Given the description of an element on the screen output the (x, y) to click on. 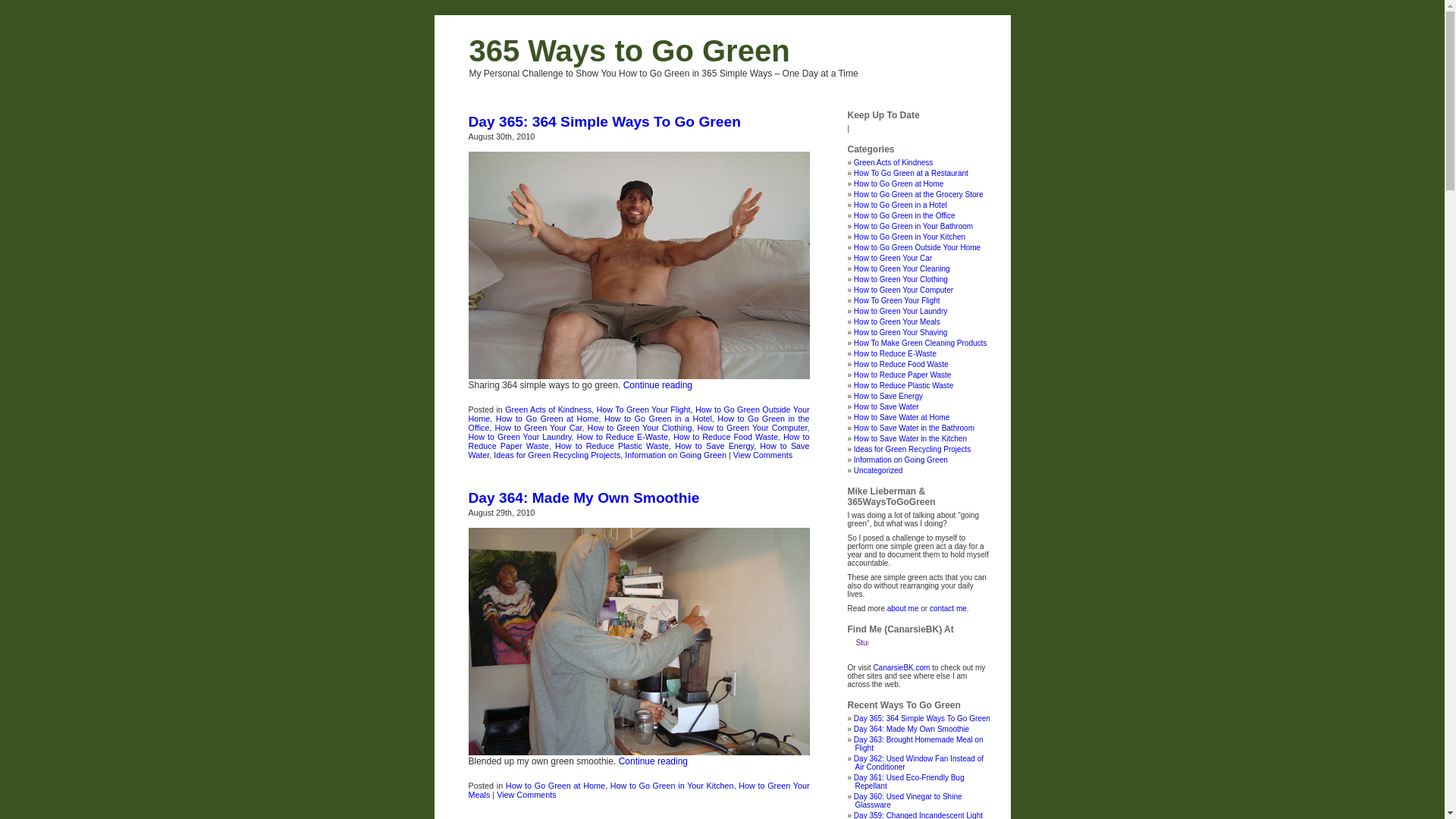
View Comments Element type: text (762, 454)
Day 360: Used Vinegar to Shine Glassware Element type: text (907, 800)
Day 362: Used Window Fan Instead of Air Conditioner Element type: text (918, 762)
How To Green Your Flight Element type: text (896, 300)
How to Green Your Clothing Element type: text (900, 279)
How to Go Green Outside Your Home Element type: text (916, 247)
Green Acts of Kindness Element type: text (548, 409)
Continue reading Element type: text (652, 761)
Day 365: 364 Simple Ways To Go Green Element type: text (921, 718)
How to Reduce Food Waste Element type: text (725, 436)
View Comments Element type: text (525, 794)
How to Save Energy Element type: text (887, 396)
How to Reduce Plastic Waste Element type: text (611, 445)
How to Save Water Element type: text (638, 450)
Day 365: 364 Simple Ways To Go Green Element type: text (604, 121)
How to Green Your Computer Element type: text (751, 427)
How To Make Green Cleaning Products Element type: text (919, 342)
How to Reduce E-Waste Element type: text (894, 353)
How to Green Your Meals Element type: text (896, 321)
How to Go Green Outside Your Home Element type: text (638, 413)
How to Green Your Cleaning Element type: text (901, 268)
Information on Going Green Element type: text (675, 454)
Ideas for Green Recycling Projects Element type: text (556, 454)
Continue reading Element type: text (657, 384)
about me Element type: text (903, 608)
StumbleUpon Element type: hover (862, 647)
How to Green Your Clothing Element type: text (639, 427)
How to Green Your Meals Element type: text (638, 790)
How to Green Your Laundry Element type: text (900, 311)
How to Go Green in Your Kitchen Element type: text (672, 785)
How to Green Your Computer Element type: text (903, 289)
Ideas for Green Recycling Projects Element type: text (912, 449)
Green Acts of Kindness Element type: text (893, 162)
Day 363: Brought Homemade Meal on Flight Element type: text (918, 743)
How to Reduce Plastic Waste Element type: text (903, 385)
How to Reduce Paper Waste Element type: text (902, 374)
How to Reduce Paper Waste Element type: text (638, 441)
How to Go Green in a Hotel Element type: text (658, 418)
How to Go Green in a Hotel Element type: text (900, 204)
365 Ways to Go Green Element type: text (628, 50)
How to Go Green at Home Element type: text (555, 785)
How to Go Green at the Grocery Store Element type: text (918, 194)
How to Go Green in Your Kitchen Element type: text (909, 236)
How to Save Water Element type: text (886, 406)
How to Green Your Shaving Element type: text (900, 332)
How to Go Green in the Office Element type: text (638, 423)
How To Green Your Flight Element type: text (643, 409)
Day 361: Used Eco-Friendly Bug Repellant Element type: text (908, 781)
Day 364: Made My Own Smoothie Element type: text (583, 497)
How to Green Your Laundry Element type: text (519, 436)
How to Save Water in the Bathroom Element type: text (913, 427)
CanarsieBK.com Element type: text (900, 667)
How to Go Green in the Office Element type: text (904, 215)
How to Reduce Food Waste Element type: text (900, 364)
How to Green Your Car Element type: text (892, 258)
How to Green Your Car Element type: text (538, 427)
Uncategorized Element type: text (877, 470)
How to Go Green in Your Bathroom Element type: text (912, 226)
How to Go Green at Home Element type: text (898, 183)
Information on Going Green Element type: text (900, 459)
How to Save Energy Element type: text (713, 445)
Day 364: Made My Own Smoothie Element type: text (911, 728)
How to Save Water in the Kitchen Element type: text (909, 438)
contact me. Element type: text (949, 608)
How To Go Green at a Restaurant Element type: text (910, 173)
How to Go Green at Home Element type: text (547, 418)
How to Reduce E-Waste Element type: text (622, 436)
How to Save Water at Home Element type: text (901, 417)
